Given the description of an element on the screen output the (x, y) to click on. 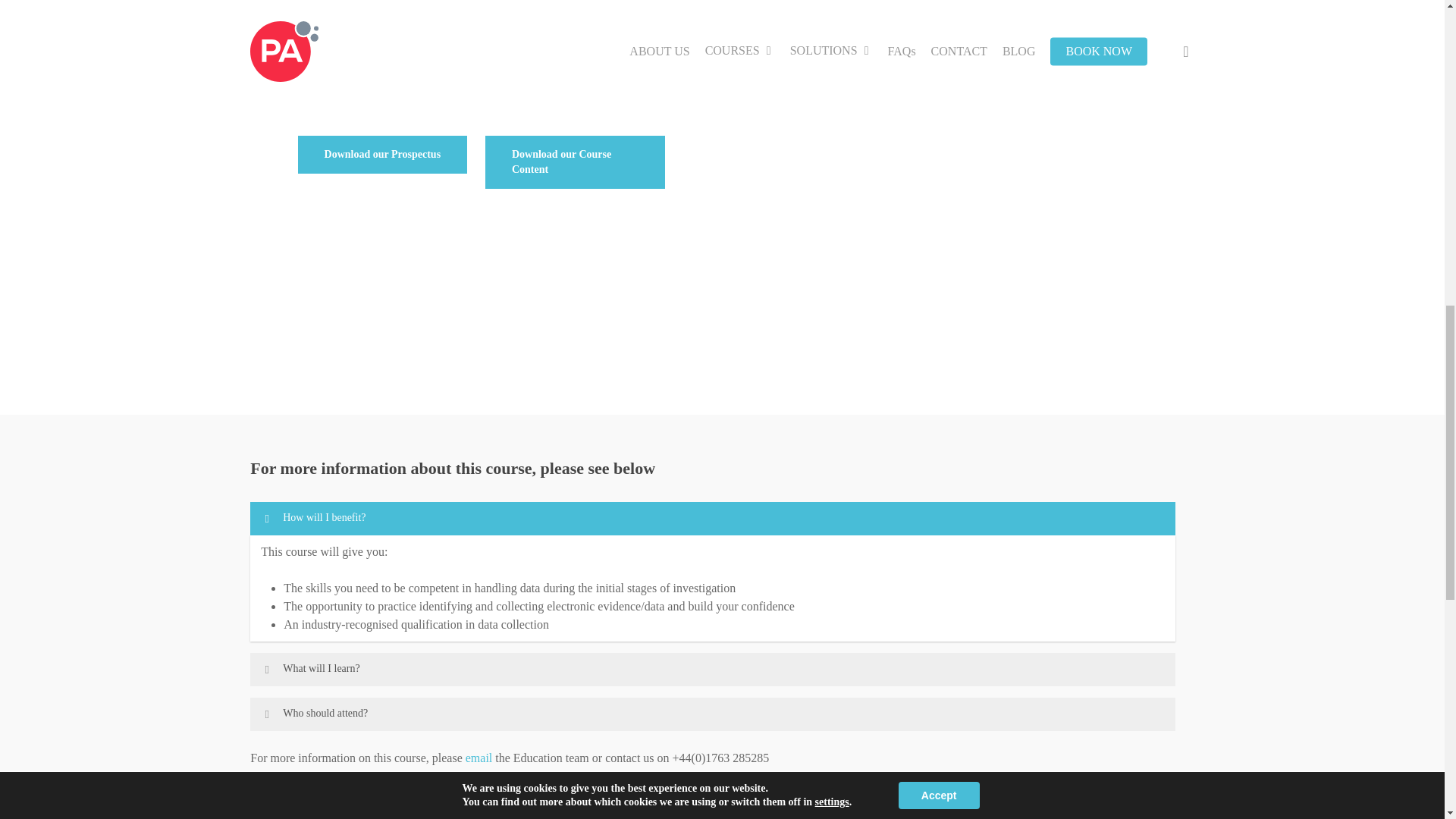
Who should attend? (712, 714)
How will I benefit? (712, 518)
email (479, 757)
Download our Course Content (574, 162)
What will I learn? (712, 669)
Download our Prospectus (382, 154)
